Given the description of an element on the screen output the (x, y) to click on. 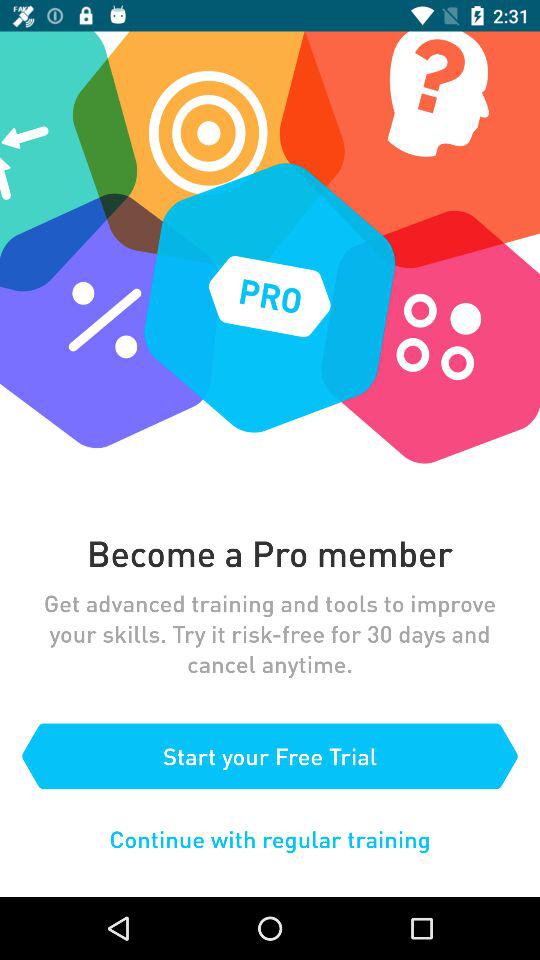
open the continue with regular (270, 838)
